Given the description of an element on the screen output the (x, y) to click on. 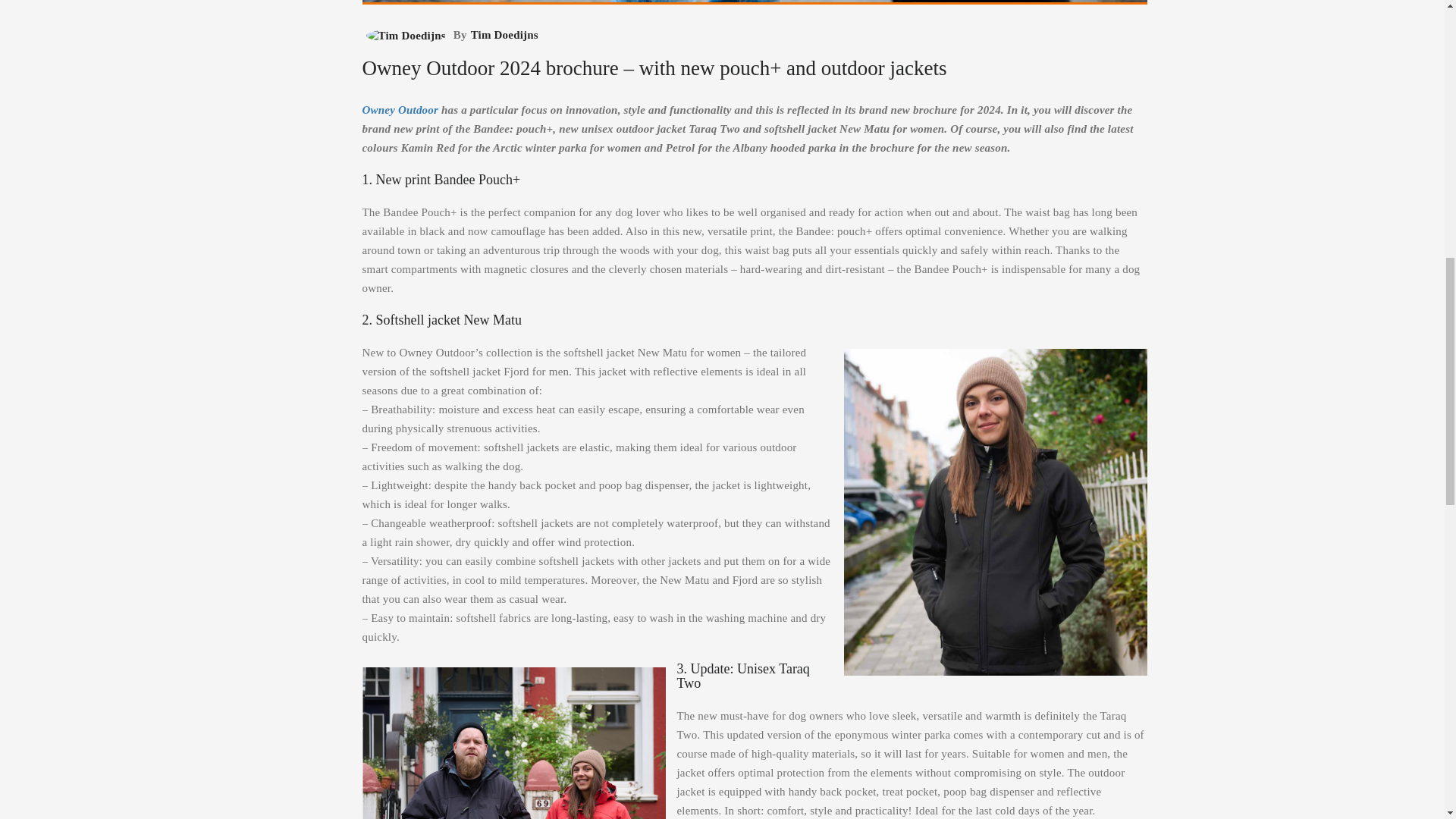
Tim Doedijns (405, 35)
Tim Doedijns (502, 34)
Owney Outdoor (401, 110)
